Given the description of an element on the screen output the (x, y) to click on. 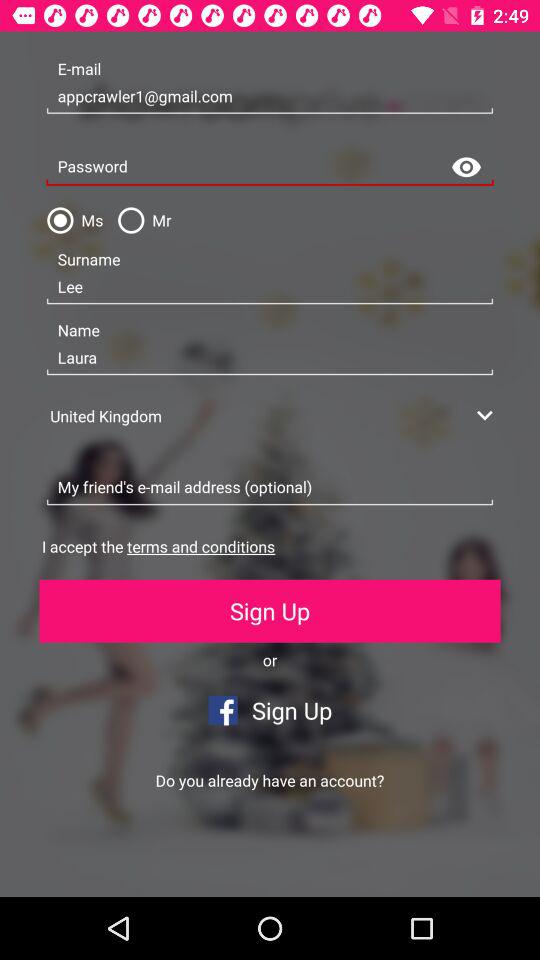
enter password (270, 167)
